Given the description of an element on the screen output the (x, y) to click on. 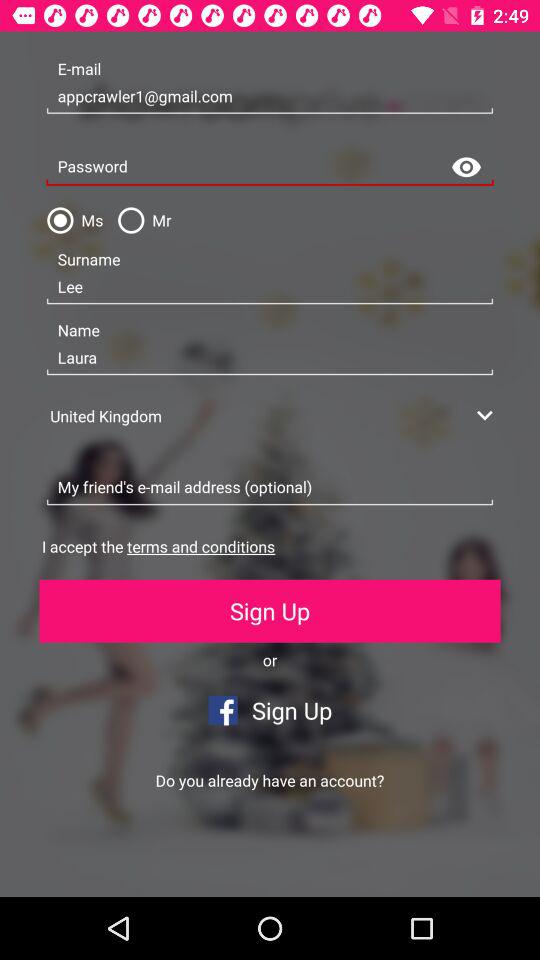
enter password (270, 167)
